Given the description of an element on the screen output the (x, y) to click on. 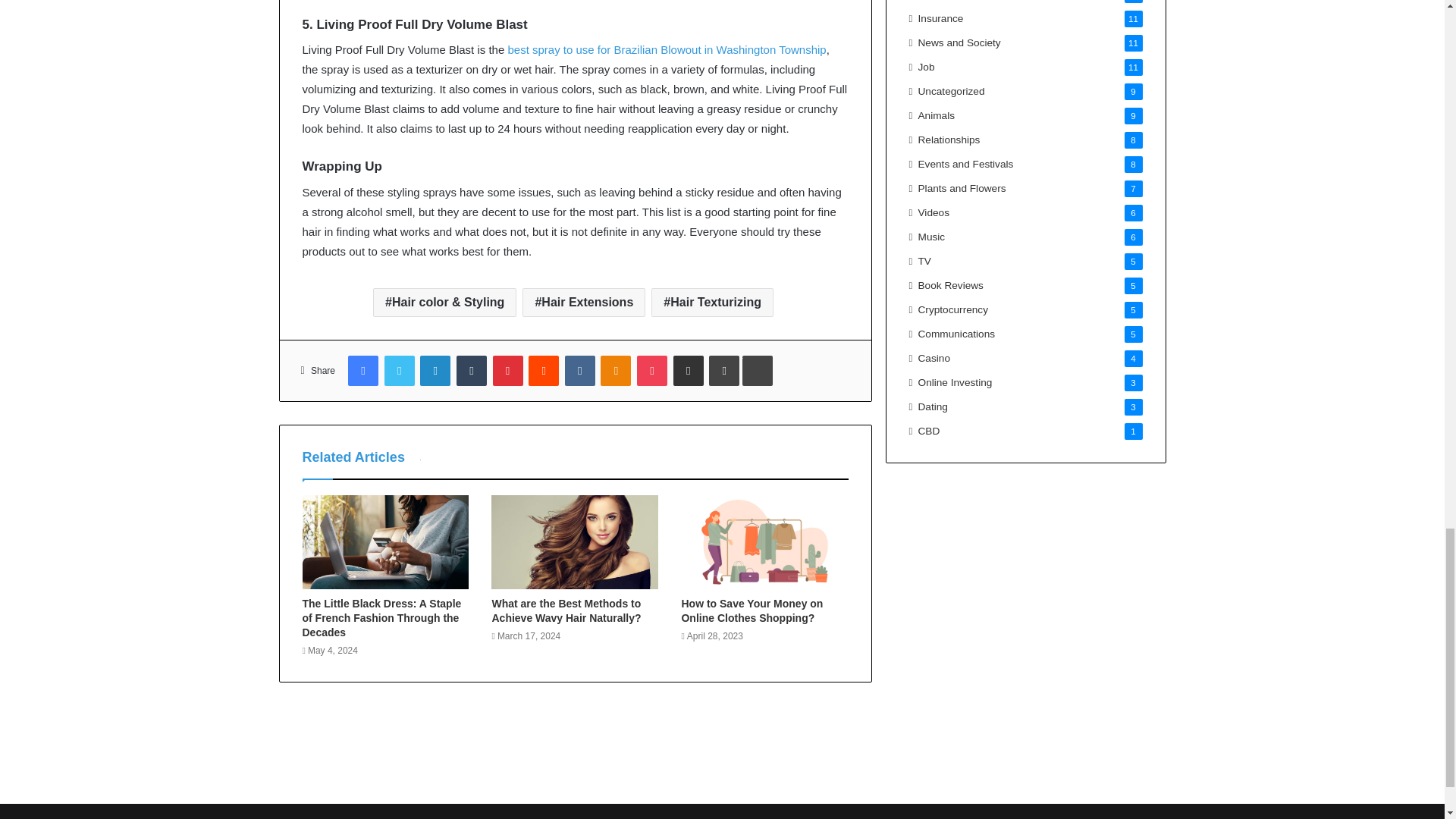
Hair Extensions (583, 302)
Hair Texturizing (711, 302)
